Given the description of an element on the screen output the (x, y) to click on. 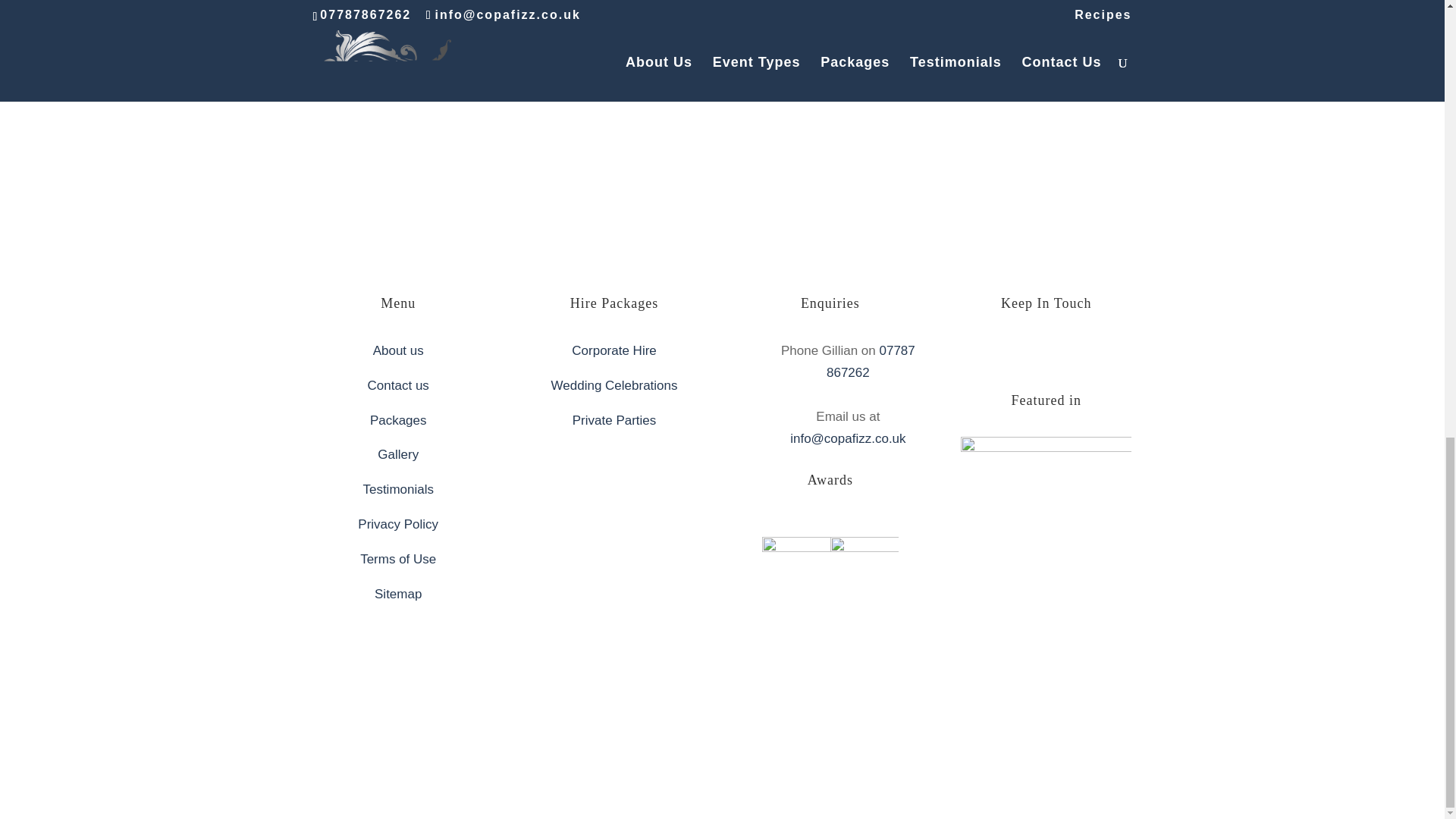
Corporate Hire (614, 350)
About us (397, 350)
Packages (397, 420)
Sitemap (398, 594)
07787 867262 (871, 361)
Testimonials (397, 489)
Privacy Policy (398, 523)
Wedding Celebrations (614, 385)
Terms of Use (397, 559)
Gallery (398, 454)
